Given the description of an element on the screen output the (x, y) to click on. 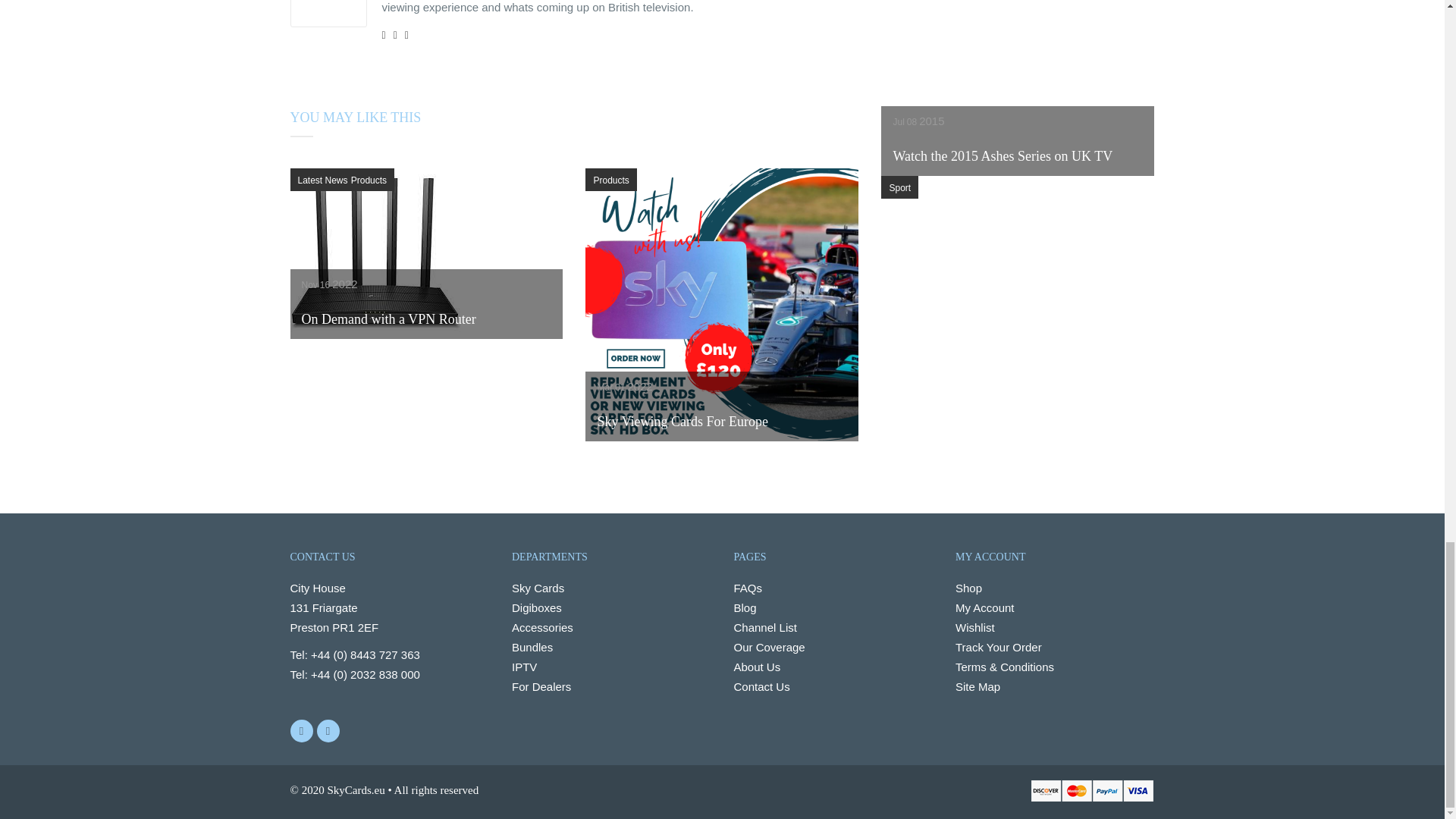
Sky Viewing Cards For Europe (722, 436)
On Demand with a VPN Router (376, 334)
Twitter (301, 730)
Linkedin (328, 730)
